Given the description of an element on the screen output the (x, y) to click on. 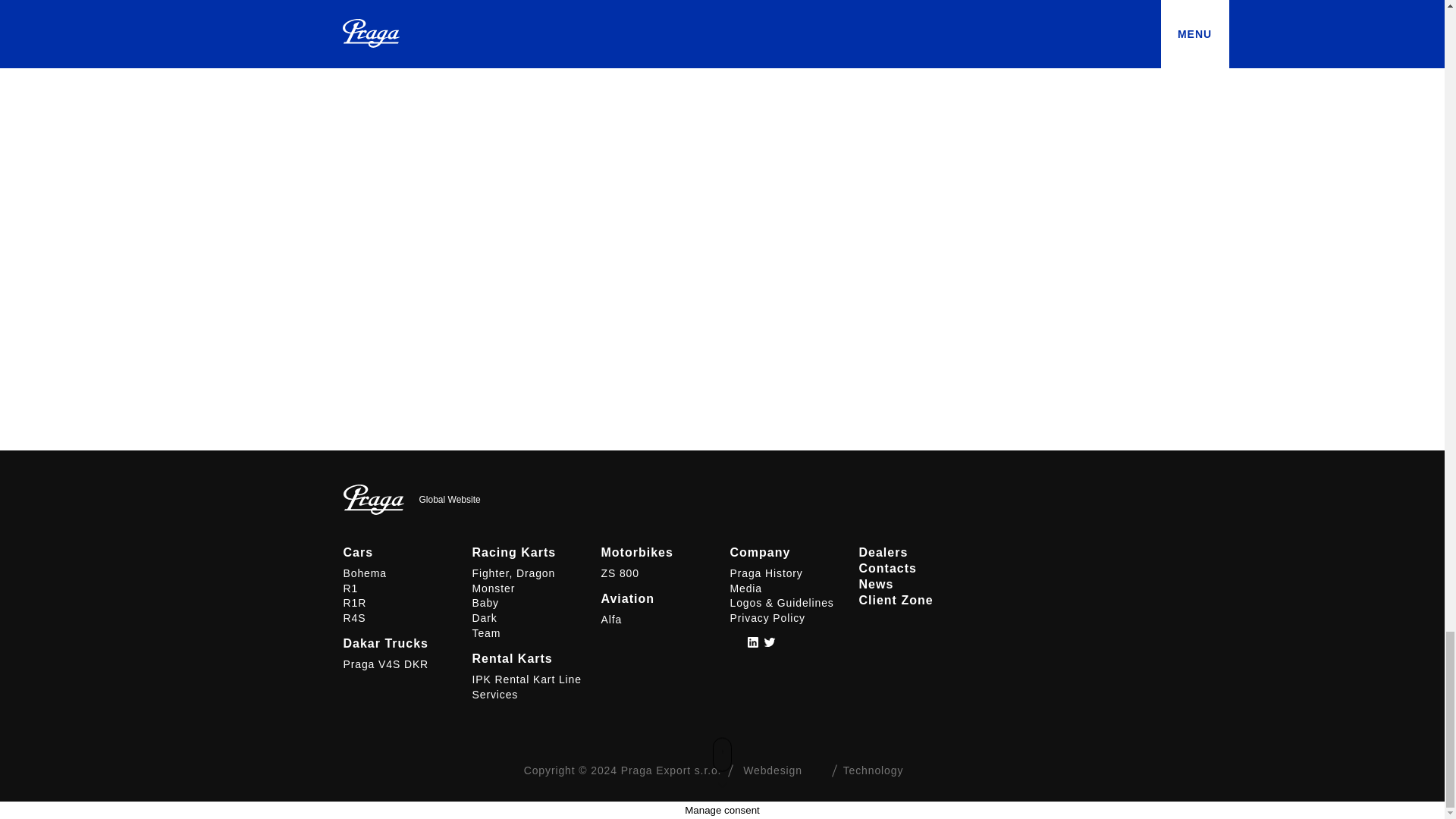
Boost.space (911, 770)
Logo Twitter (768, 642)
Advertia (811, 770)
Logo Linkedin (751, 642)
